Given the description of an element on the screen output the (x, y) to click on. 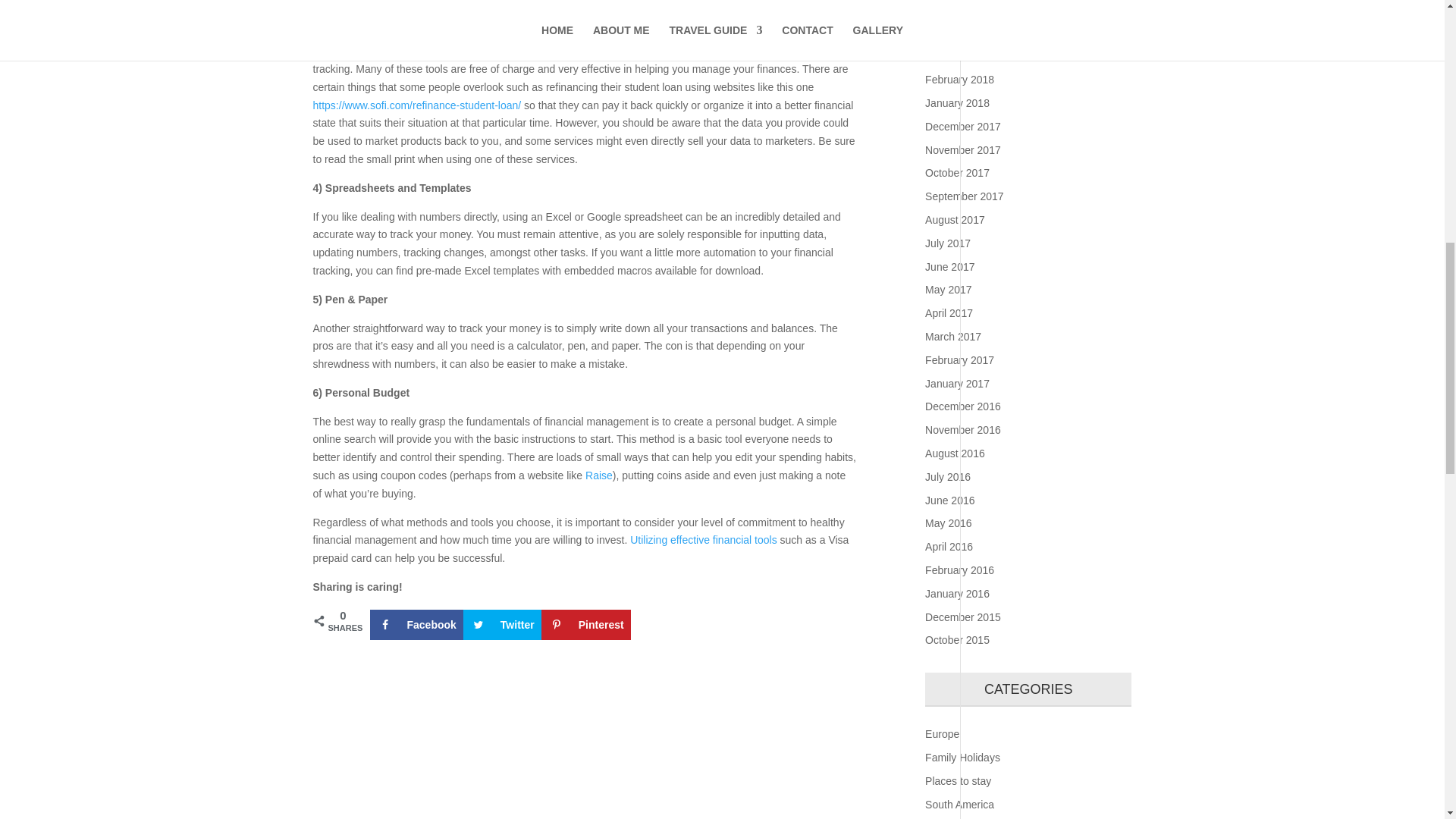
Twitter (502, 624)
Share on Twitter (502, 624)
Facebook (416, 624)
Save to Pinterest (585, 624)
Share on Facebook (416, 624)
Raise (598, 475)
Utilizing effective financial tools (703, 539)
Pinterest (585, 624)
